Given the description of an element on the screen output the (x, y) to click on. 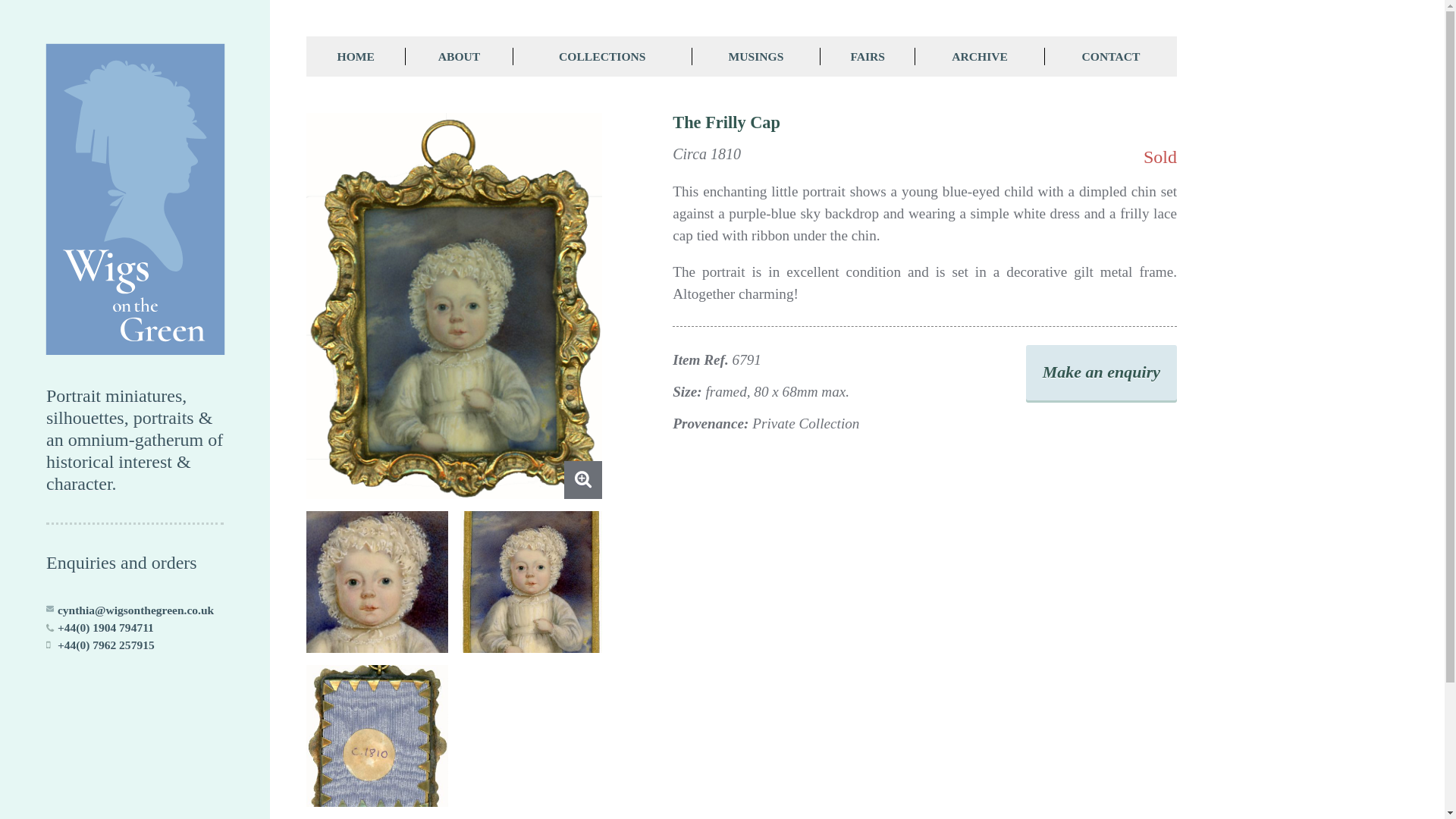
HOME (355, 56)
CONTACT (1110, 56)
ARCHIVE (980, 56)
FAIRS (868, 56)
Make an enquiry (1101, 372)
MUSINGS (757, 56)
ABOUT (459, 56)
COLLECTIONS (603, 56)
